Given the description of an element on the screen output the (x, y) to click on. 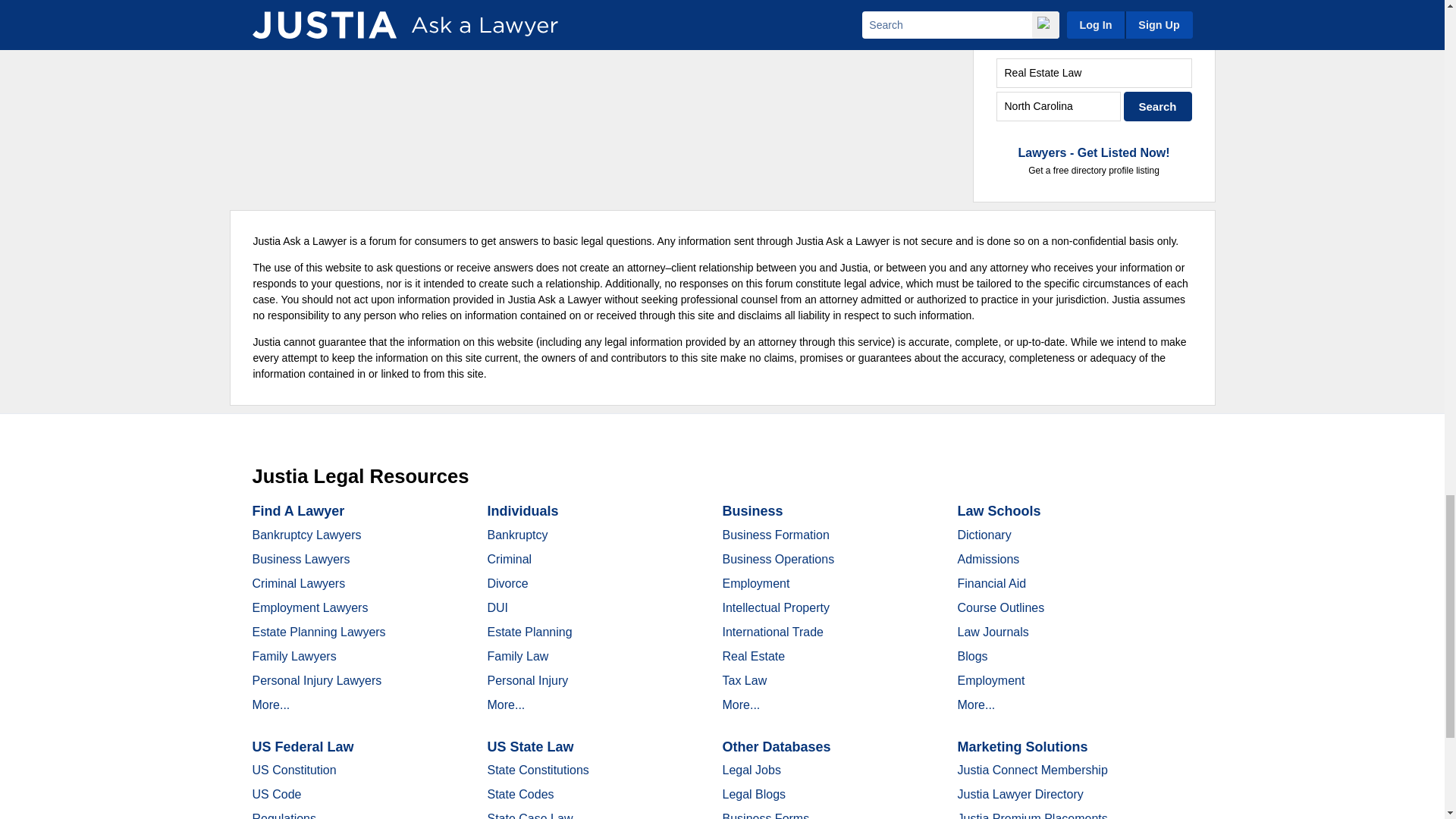
North Carolina (1058, 106)
Search (1158, 106)
City, State (1058, 106)
Legal Issue or Lawyer Name (1093, 72)
Real Estate Law (1093, 72)
Search (1158, 106)
